Given the description of an element on the screen output the (x, y) to click on. 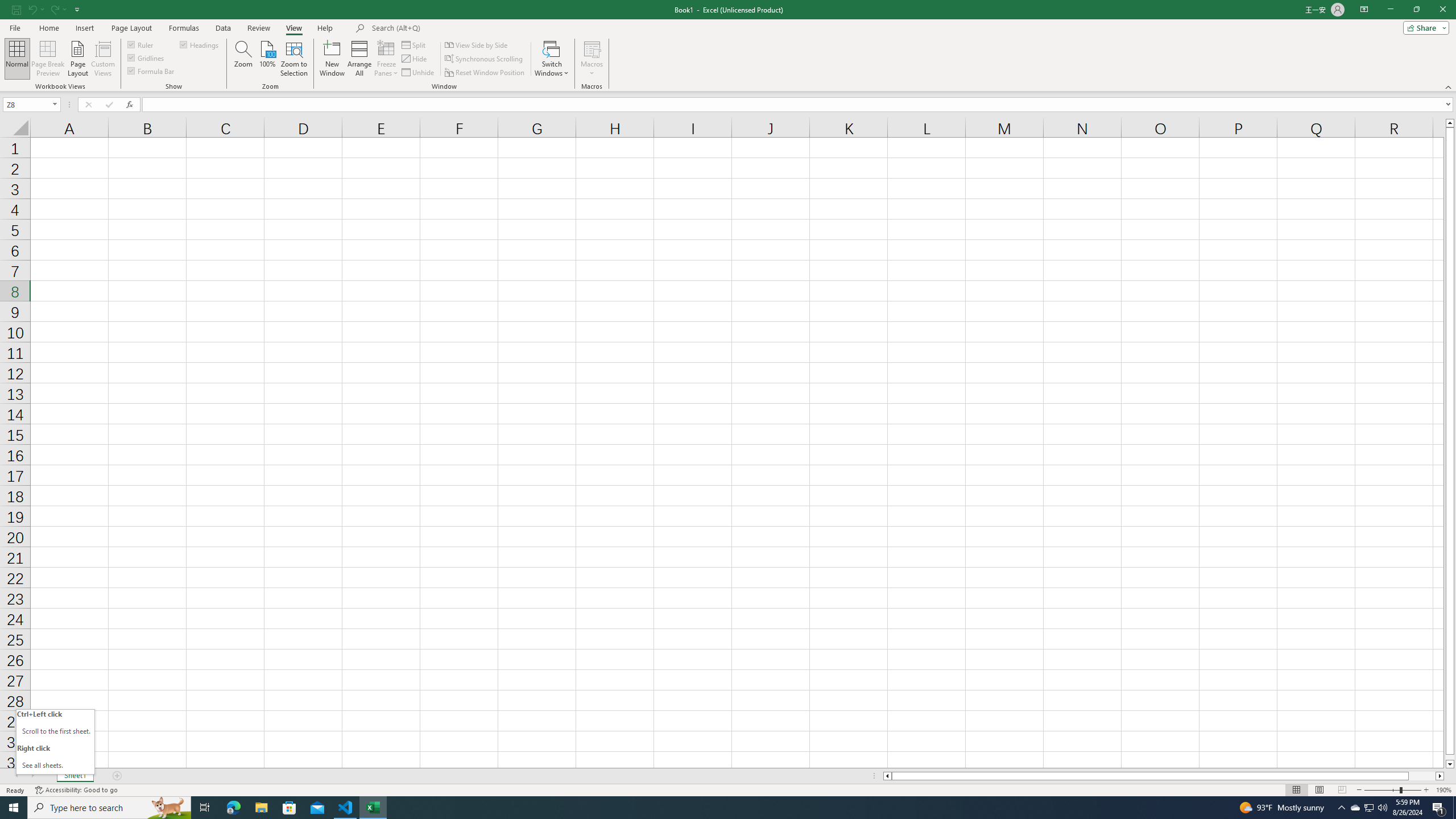
Formulas (184, 28)
Microsoft search (450, 28)
Unhide... (419, 72)
Data (223, 28)
Sheet1 (74, 775)
Split (414, 44)
Open (54, 104)
Home (48, 28)
Column left (886, 775)
Help (325, 28)
Zoom Out (1381, 790)
Class: MsoCommandBar (728, 45)
Freeze Panes (386, 58)
